Given the description of an element on the screen output the (x, y) to click on. 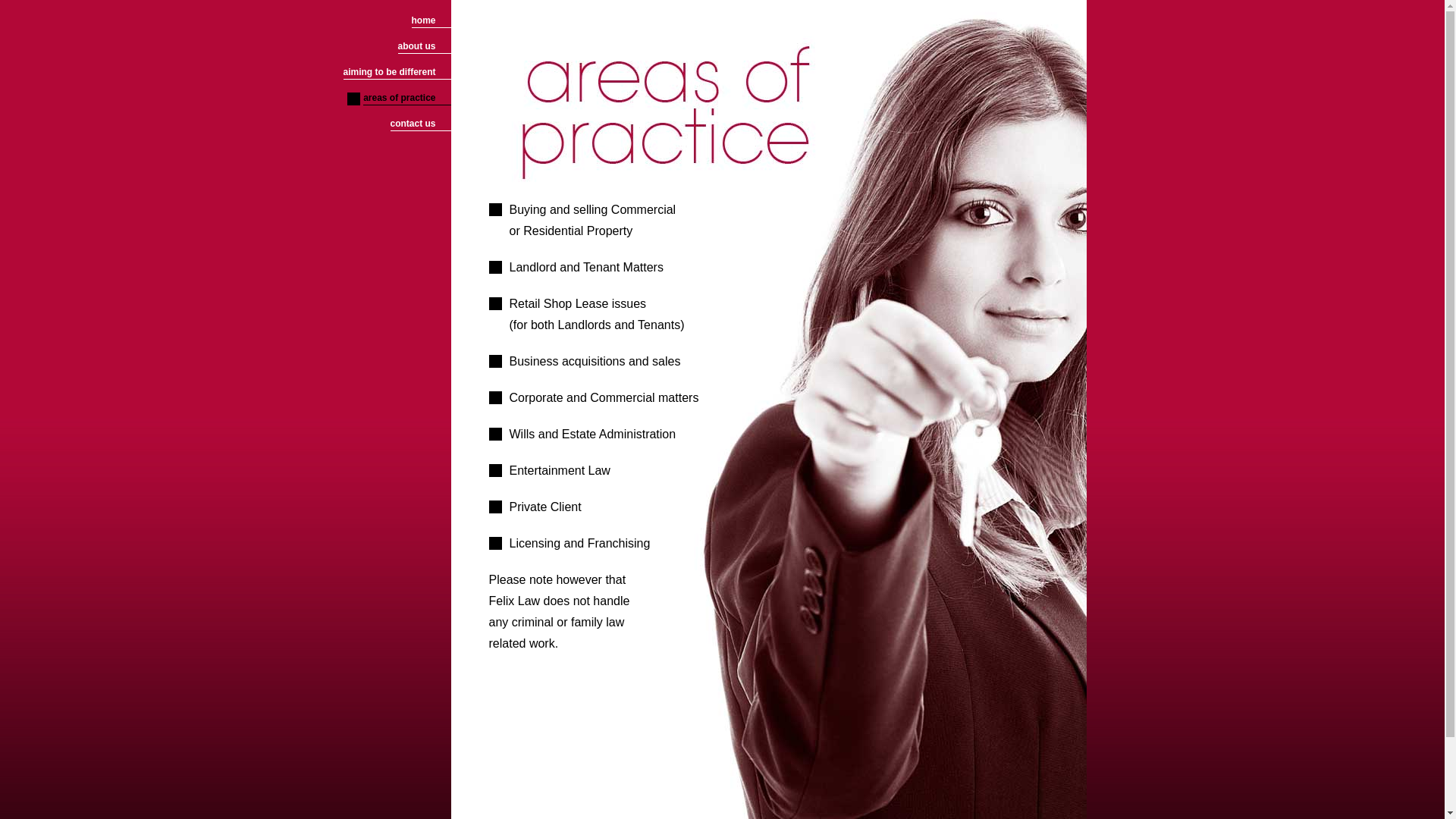
aiming to be different Element type: text (396, 72)
contact us Element type: text (419, 124)
about us Element type: text (424, 46)
home Element type: text (430, 21)
areas of practice Element type: text (406, 98)
